Given the description of an element on the screen output the (x, y) to click on. 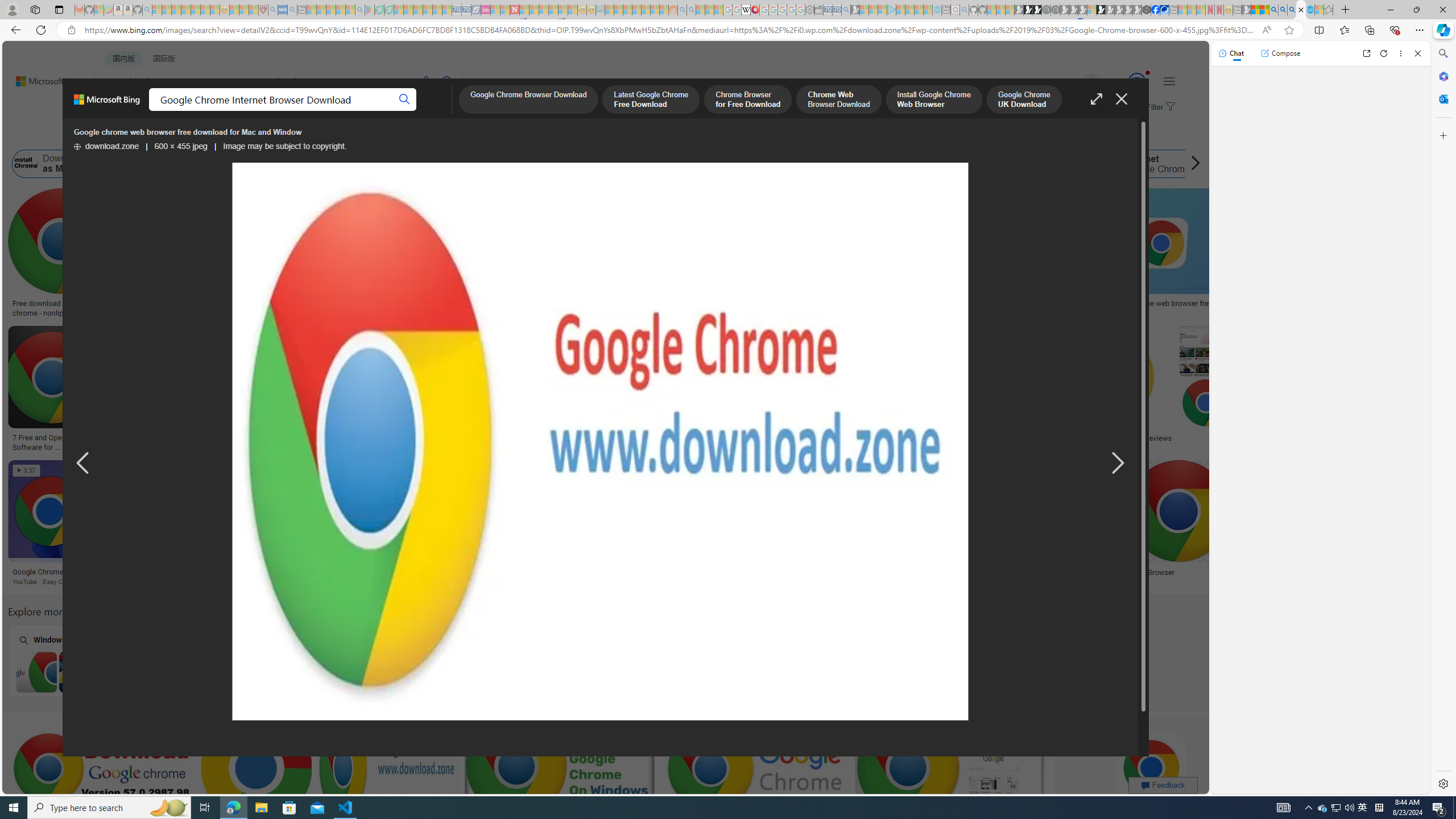
Google chrome web browser free download for Mac and Window (1192, 307)
Chrome Browser (1146, 571)
Lambang ChromeSave (850, 524)
Layout (252, 135)
Google chrome web browser free download for Mac and Window (600, 441)
